Given the description of an element on the screen output the (x, y) to click on. 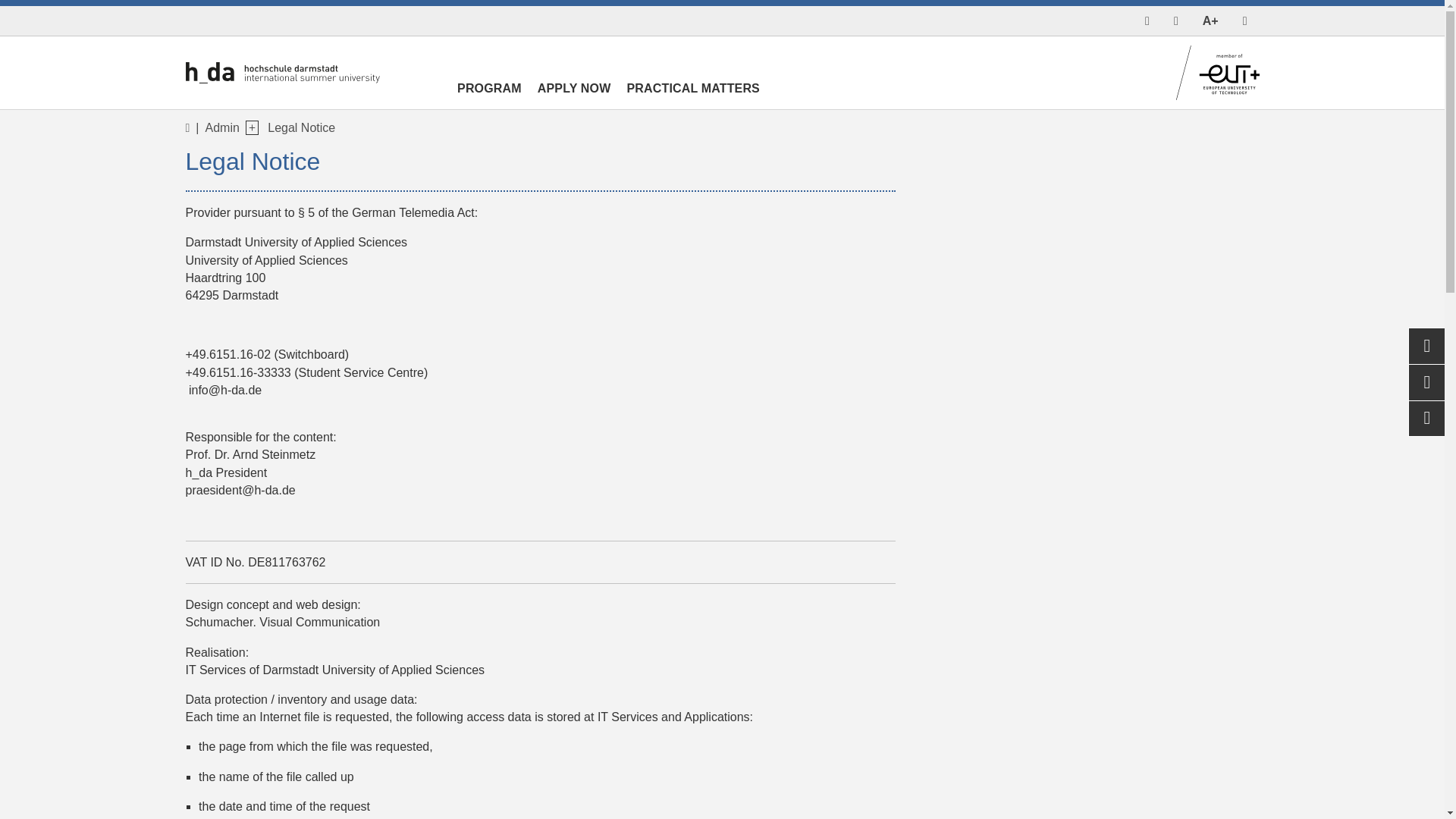
Fontsize (1210, 20)
PRACTICAL MATTERS (693, 93)
APPLY NOW (573, 93)
Start (1146, 20)
Login (1176, 20)
Program (488, 93)
Colormode (1244, 20)
PROGRAM (488, 93)
Admin (221, 127)
Apply now (573, 93)
